Given the description of an element on the screen output the (x, y) to click on. 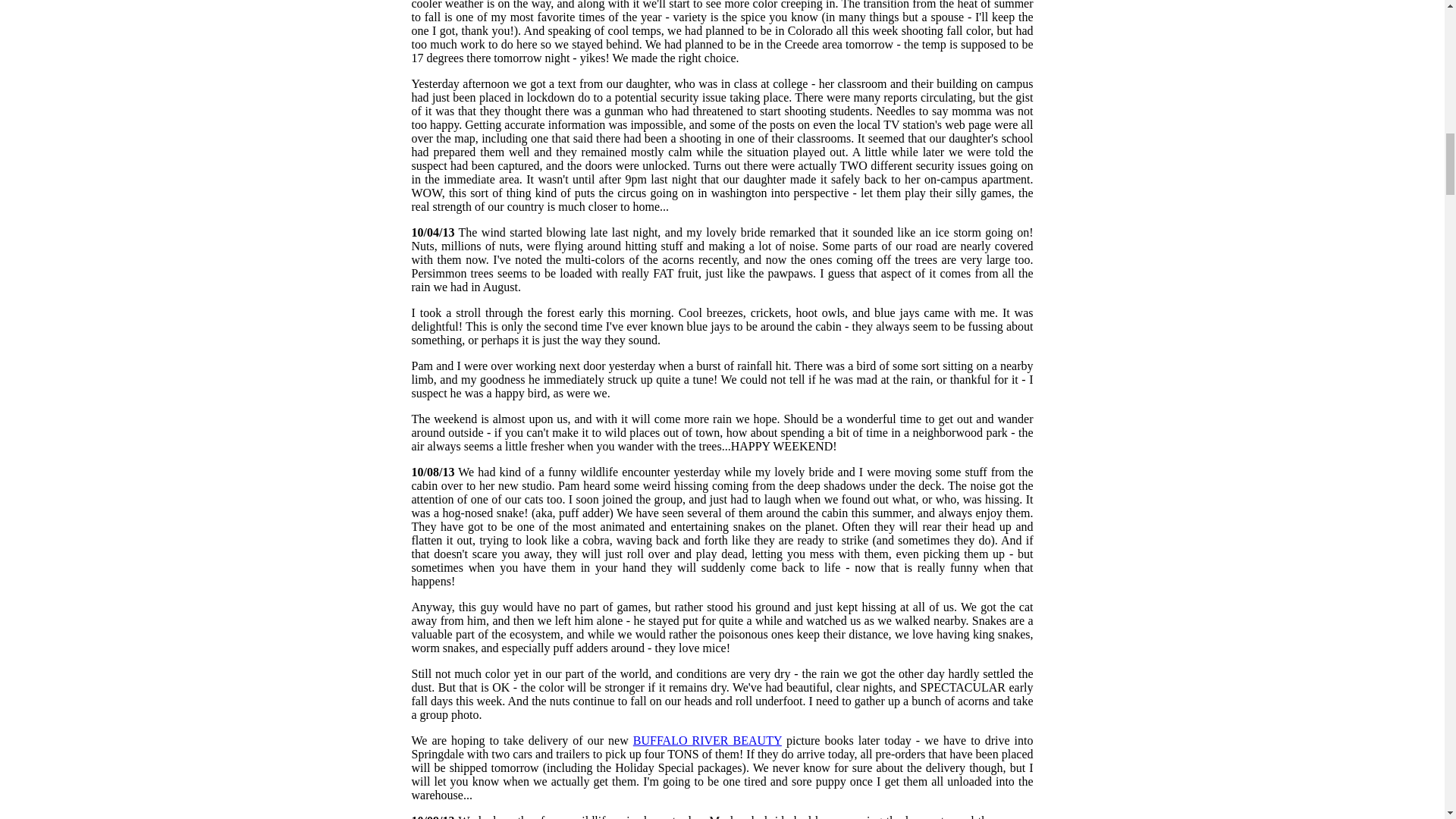
BUFFALO RIVER BEAUTY (707, 739)
